Given the description of an element on the screen output the (x, y) to click on. 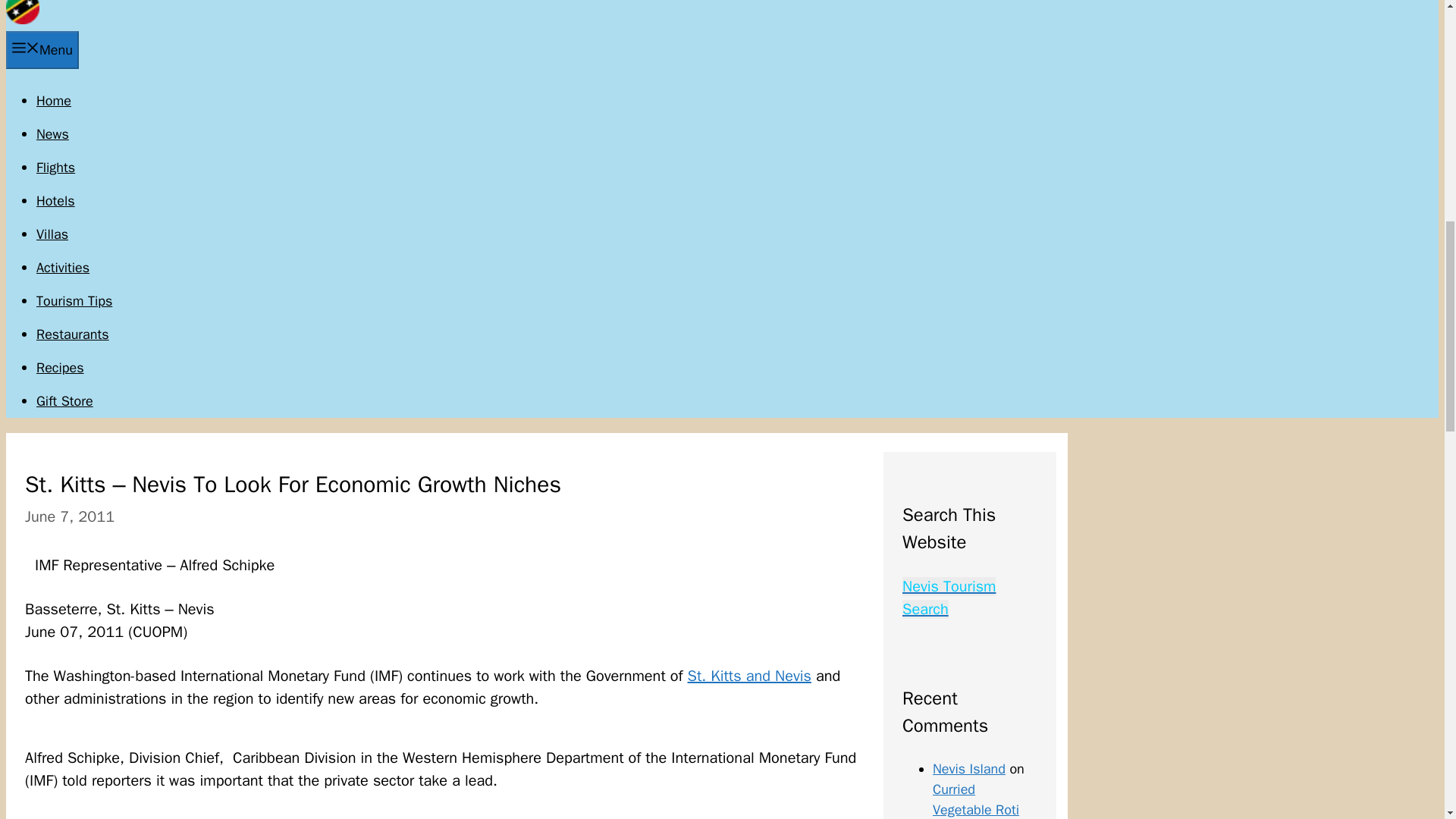
Hotels (55, 200)
Activities (62, 267)
Nevis Island (969, 768)
Nevis Tourism Search (948, 598)
Villas (52, 234)
Recipes (60, 367)
Flights (55, 167)
Home (53, 100)
Gift Store (64, 401)
Nevis Island News and Notes (22, 19)
St. Kitts and Nevis (748, 675)
News (52, 134)
Nevis Flight Information (55, 167)
Nevis News (52, 134)
Menu (41, 49)
